Given the description of an element on the screen output the (x, y) to click on. 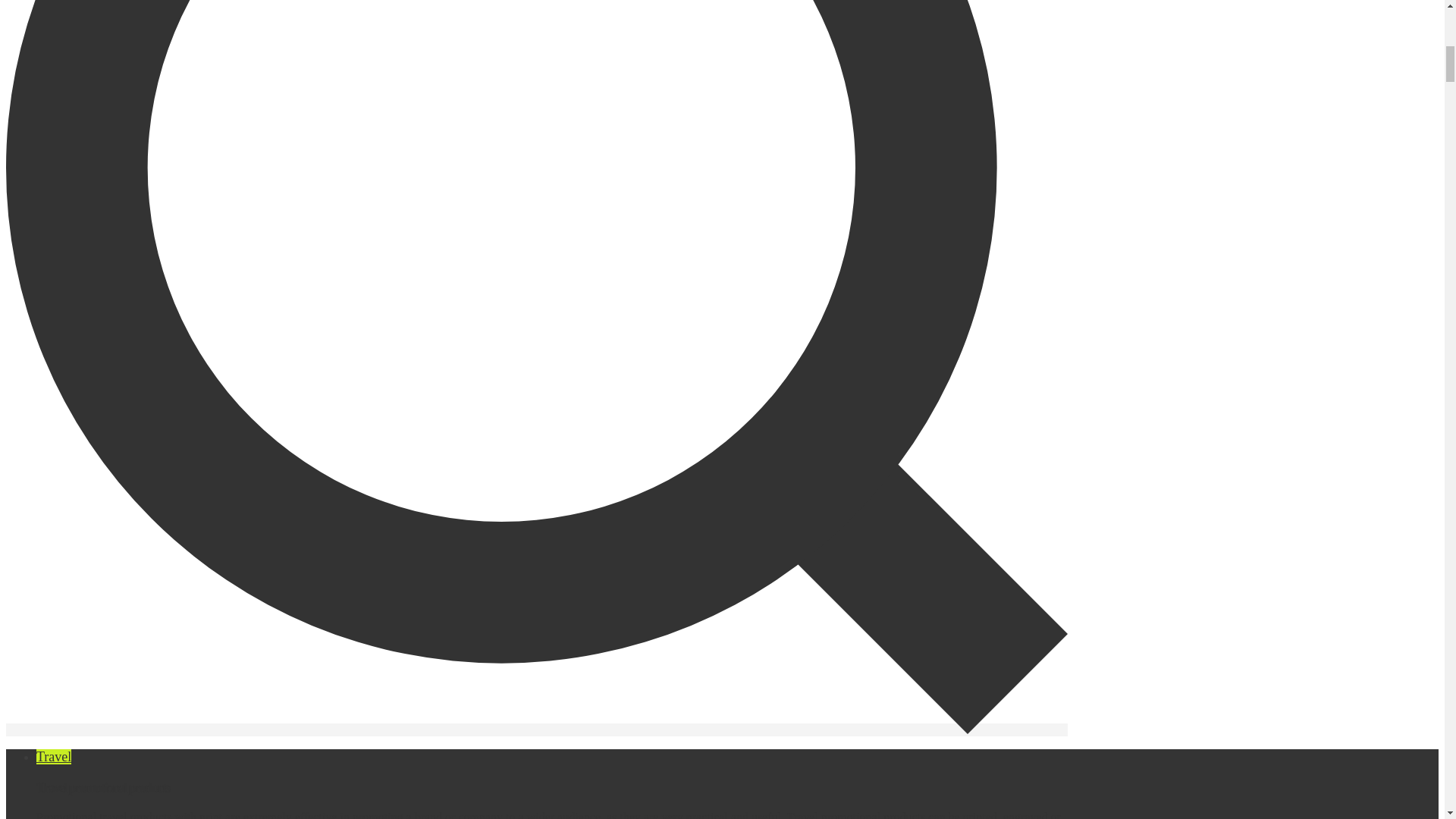
Travel (53, 756)
